Given the description of an element on the screen output the (x, y) to click on. 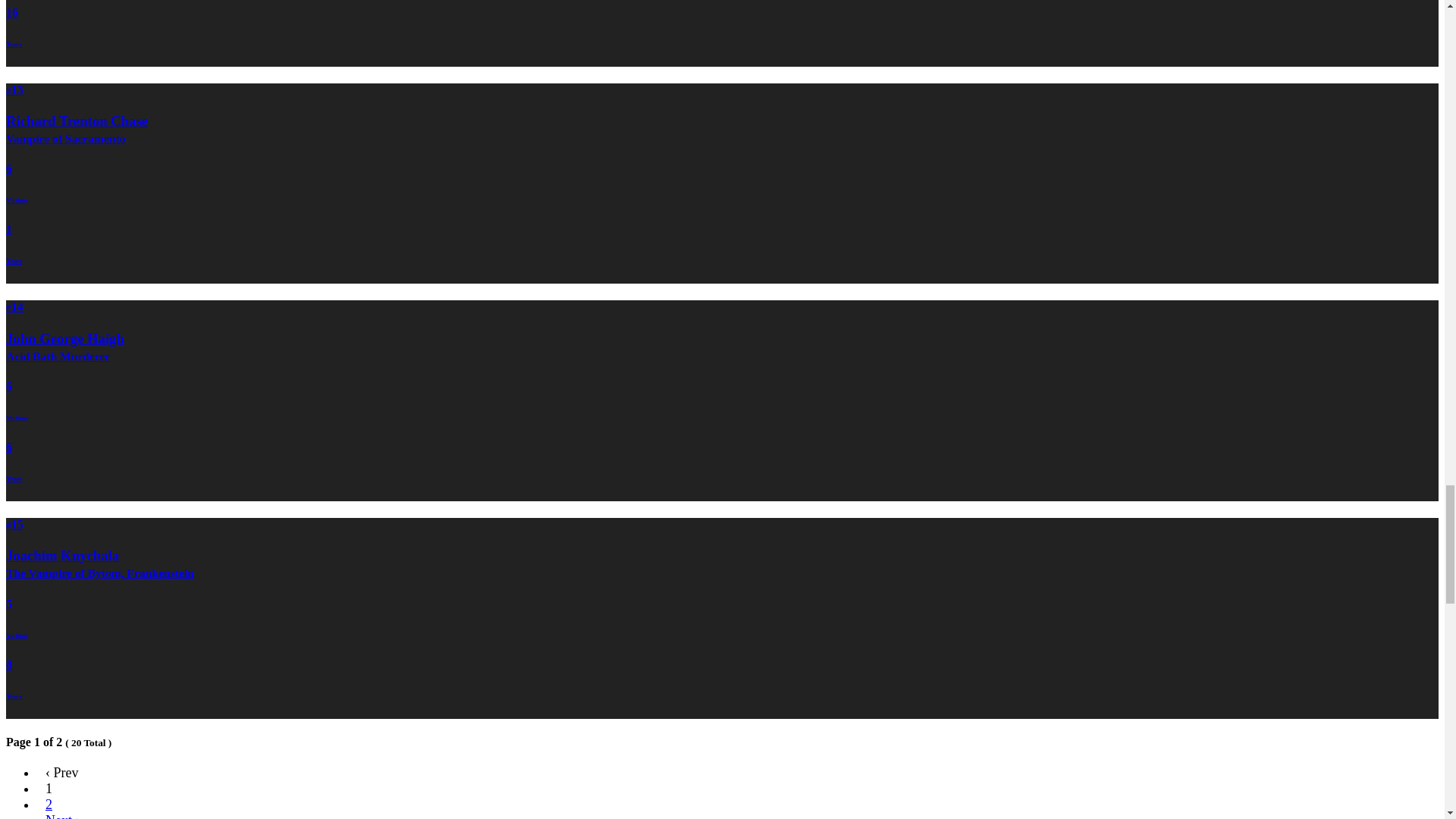
2 (48, 802)
